Given the description of an element on the screen output the (x, y) to click on. 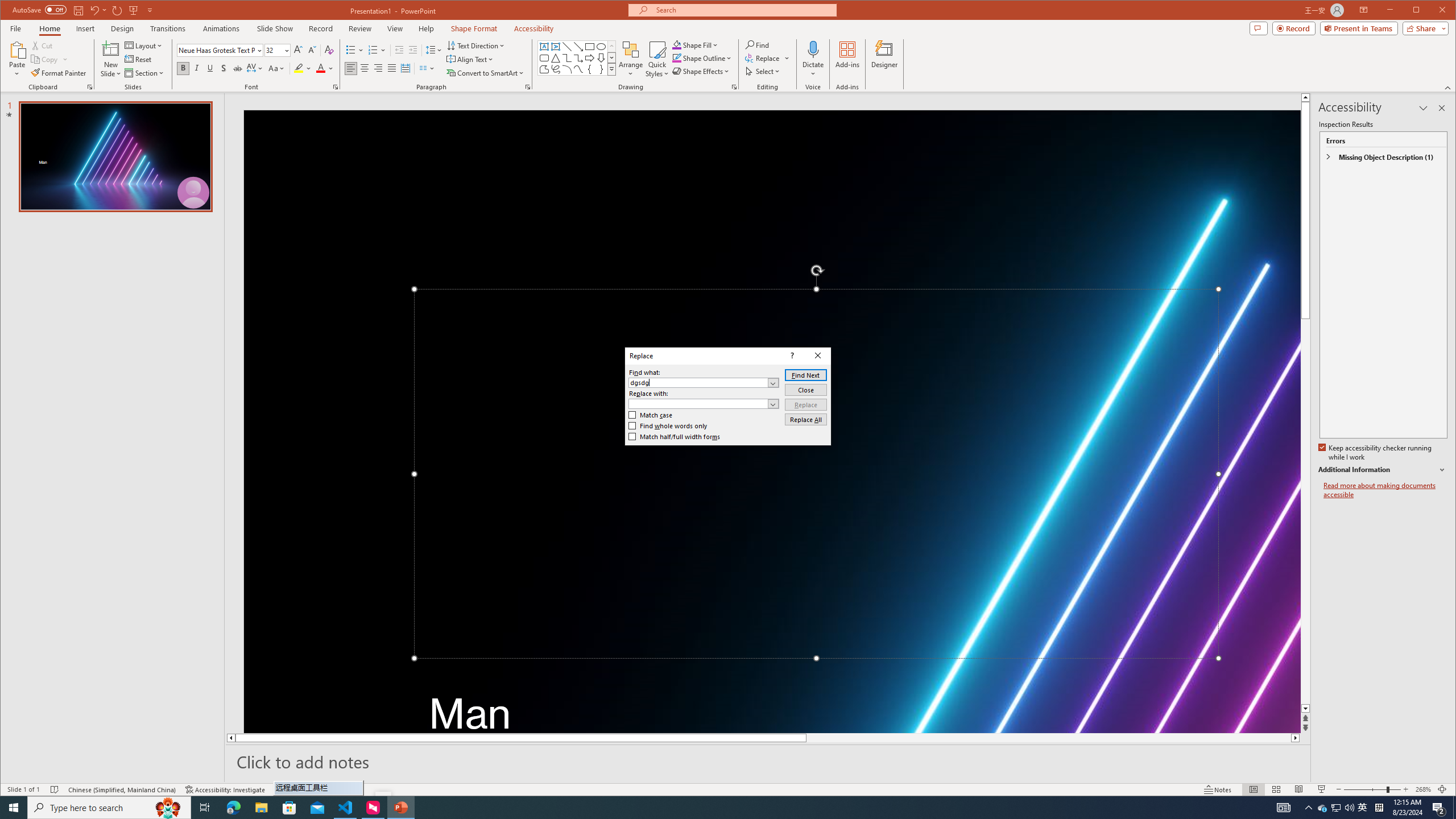
Shape Fill Orange, Accent 2 (676, 44)
Replace with (697, 403)
